Given the description of an element on the screen output the (x, y) to click on. 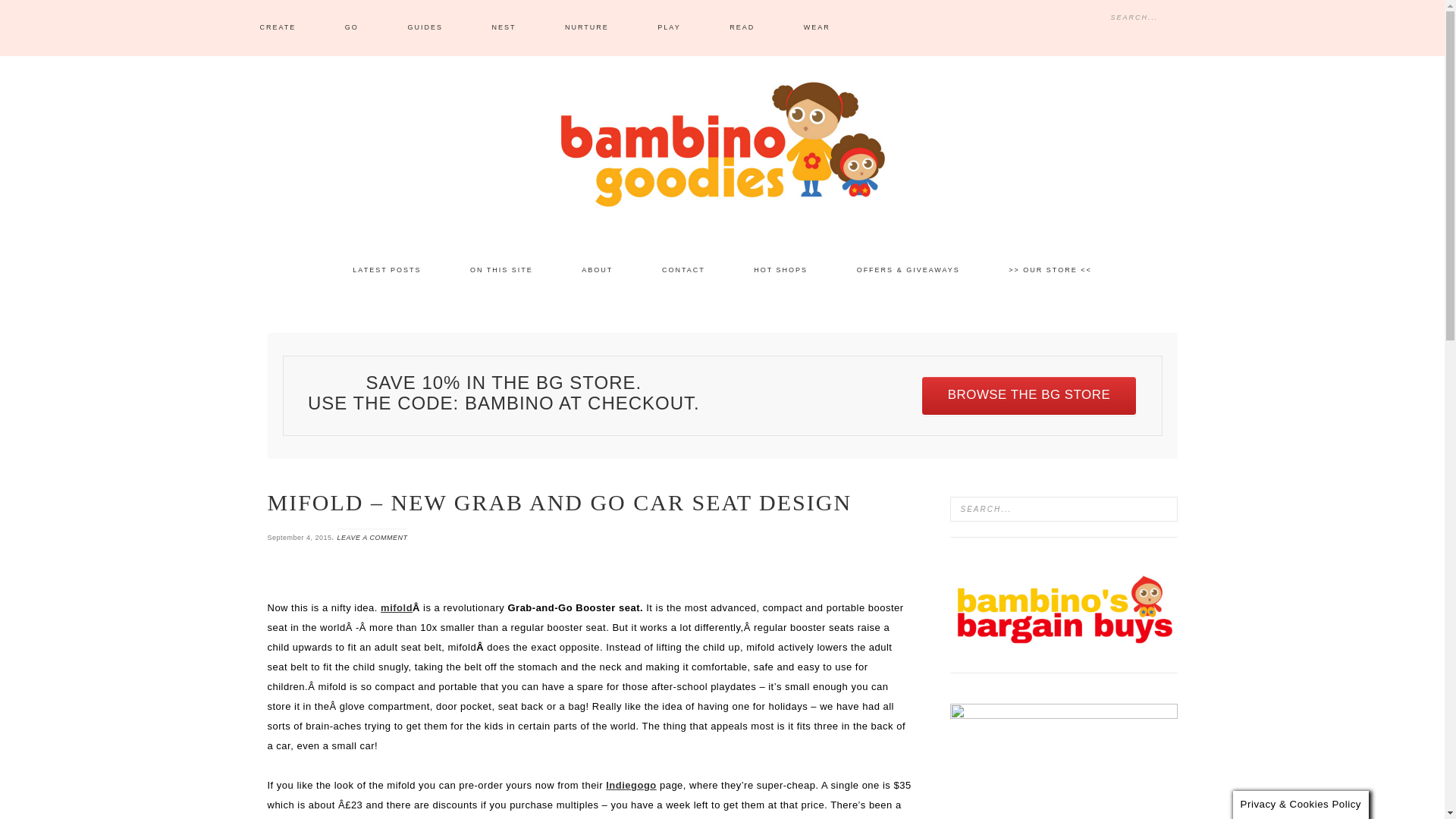
ON THIS SITE (501, 270)
NURTURE (586, 28)
READ (741, 28)
CREATE (276, 28)
PLAY (668, 28)
WEAR (816, 28)
GO (351, 28)
BAMBINO GOODIES (722, 143)
NEST (503, 28)
GUIDES (424, 28)
